Given the description of an element on the screen output the (x, y) to click on. 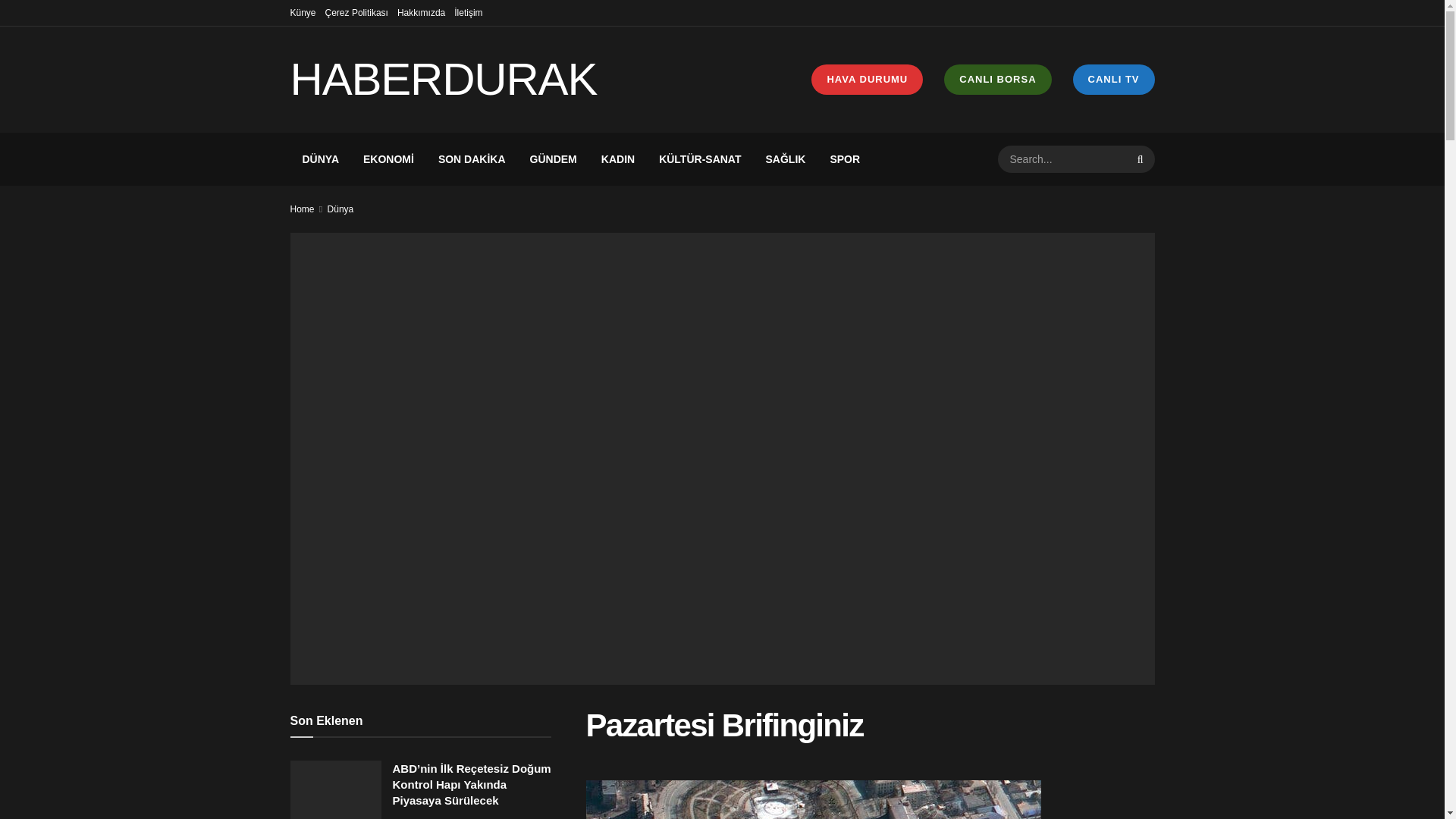
CANLI BORSA (997, 79)
CANLI TV (1113, 79)
HAVA DURUMU (866, 79)
EKONOMI (388, 158)
SPOR (844, 158)
HABERDURAK (446, 79)
SON DAKIKA (472, 158)
Home (301, 208)
KADIN (617, 158)
